Given the description of an element on the screen output the (x, y) to click on. 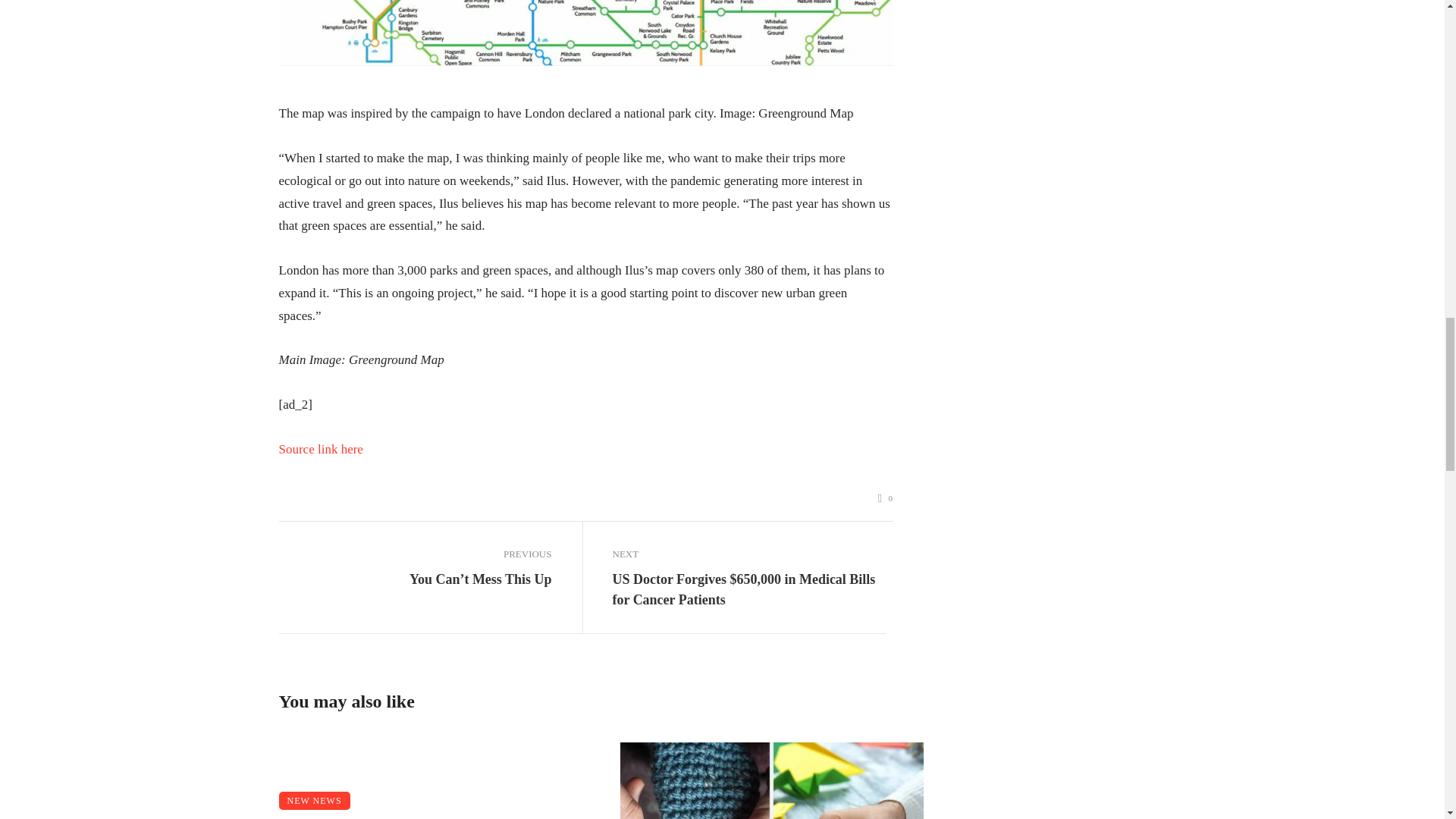
0 (885, 498)
PREVIOUS (415, 554)
0 Comments (885, 498)
Source link here (320, 449)
NEXT (748, 554)
NEW NEWS (314, 800)
